Given the description of an element on the screen output the (x, y) to click on. 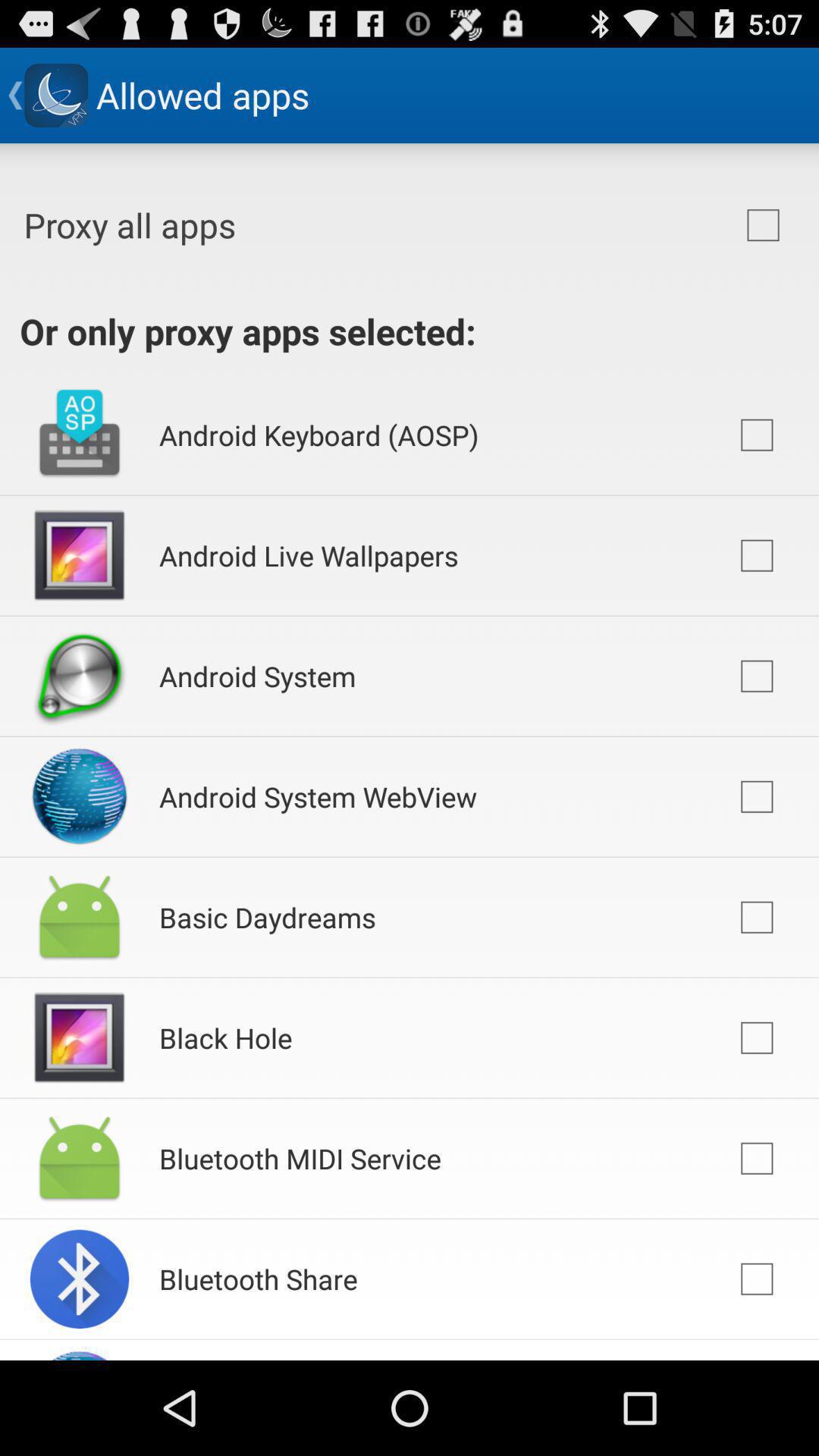
turn off the item next to proxy all apps app (763, 225)
